Given the description of an element on the screen output the (x, y) to click on. 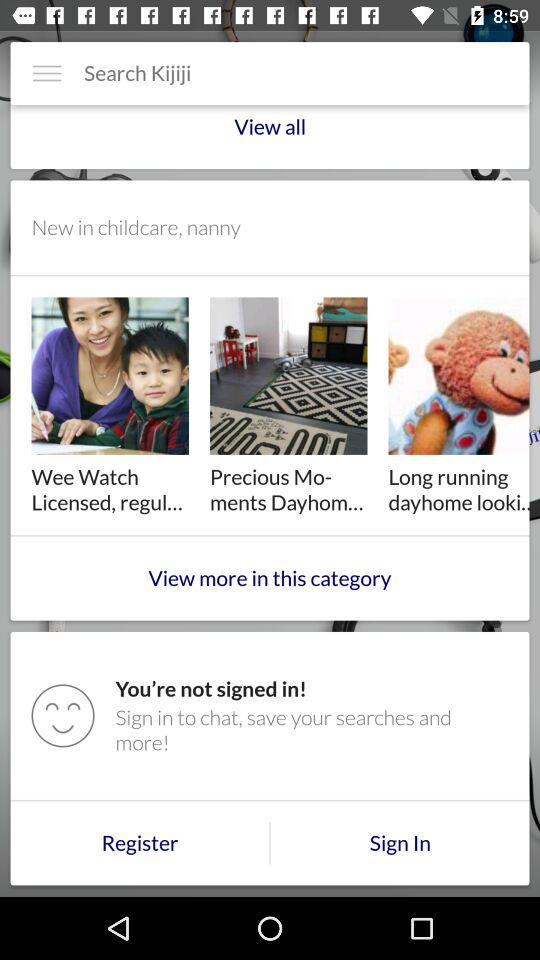
flip to register (139, 843)
